Given the description of an element on the screen output the (x, y) to click on. 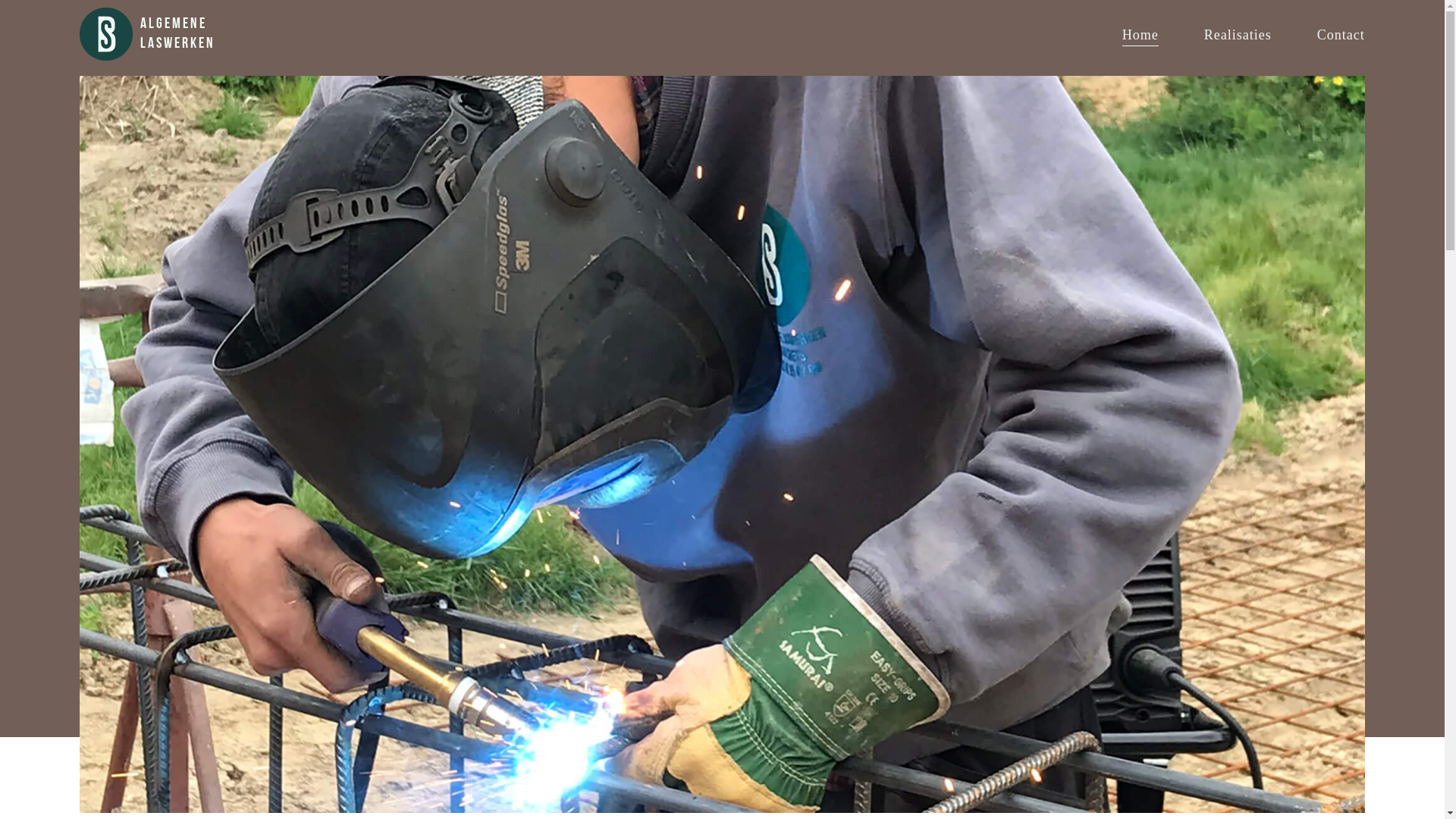
Realisaties Element type: text (1237, 33)
Home Element type: text (1140, 33)
Algemene
Laswerken Element type: text (173, 33)
Contact Element type: text (1341, 33)
